Given the description of an element on the screen output the (x, y) to click on. 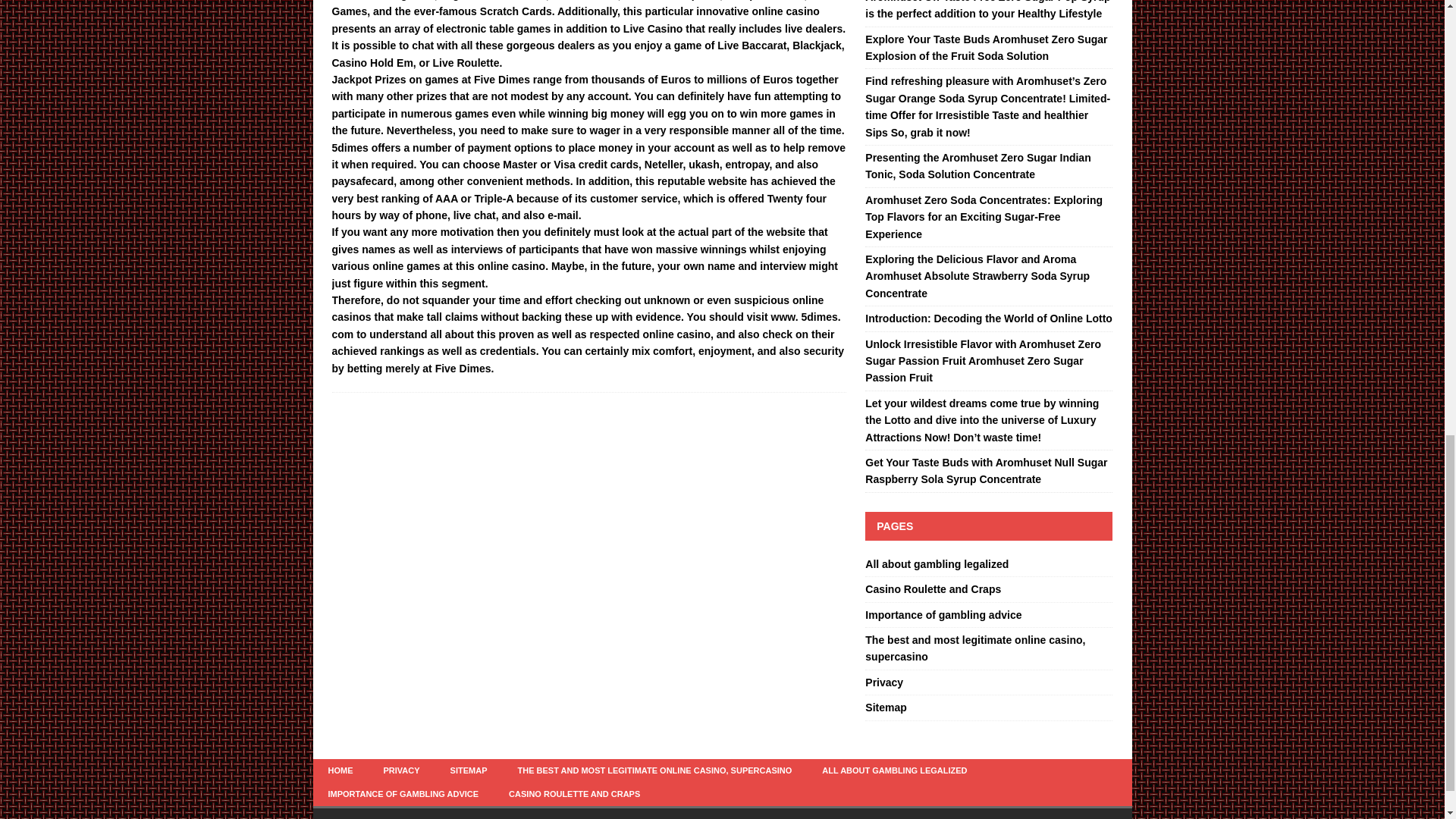
Introduction: Decoding the World of Online Lotto (988, 318)
